Given the description of an element on the screen output the (x, y) to click on. 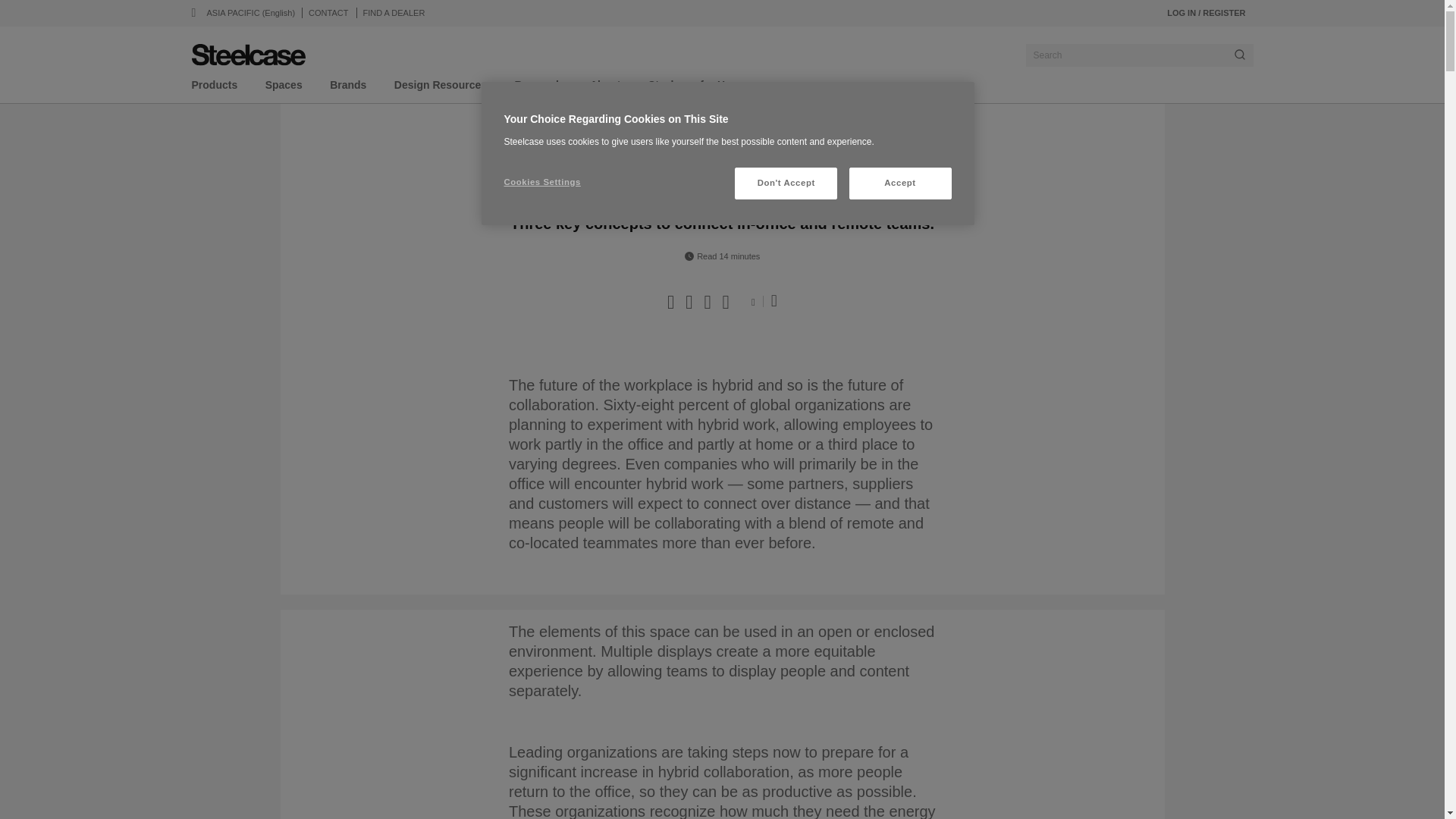
FIND A DEALER (393, 12)
CONTACT (328, 12)
Products (213, 87)
Submit (1238, 55)
